Given the description of an element on the screen output the (x, y) to click on. 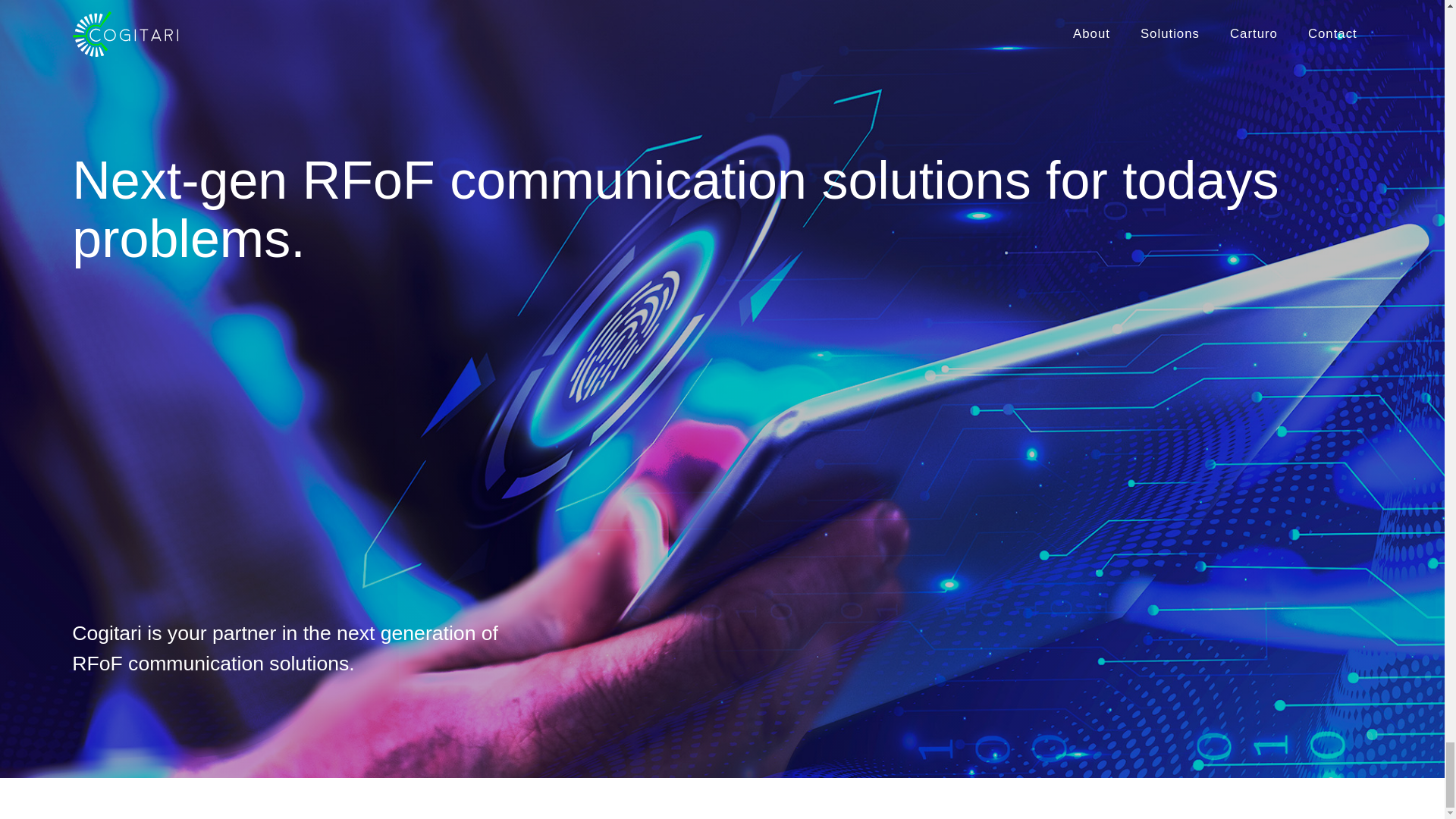
RFoF (909, 681)
Quantum Health (940, 751)
Company (599, 704)
Privacy Policy (1301, 704)
Advisory (917, 727)
Mission (593, 681)
